Given the description of an element on the screen output the (x, y) to click on. 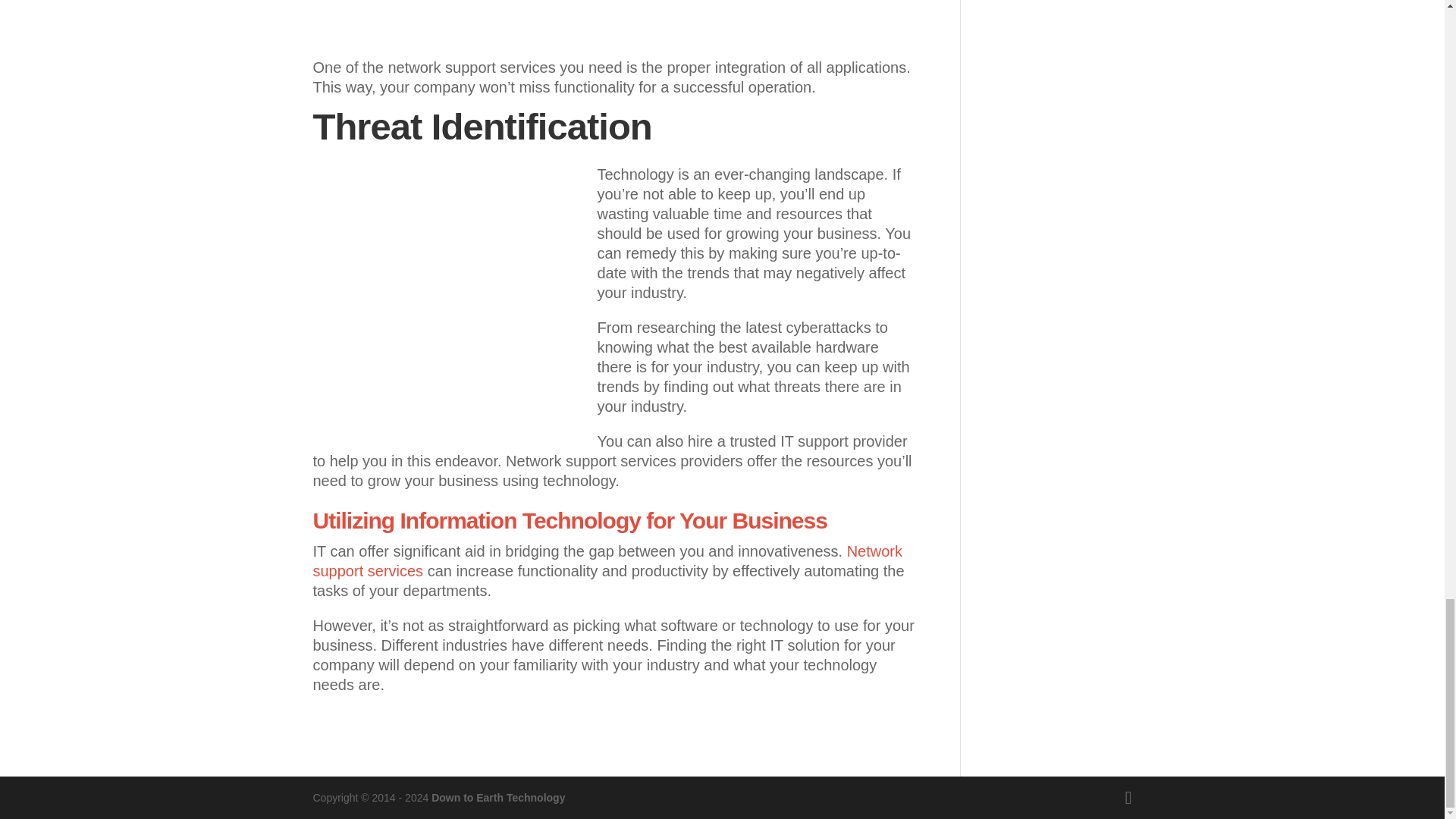
Network support services (607, 560)
